Given the description of an element on the screen output the (x, y) to click on. 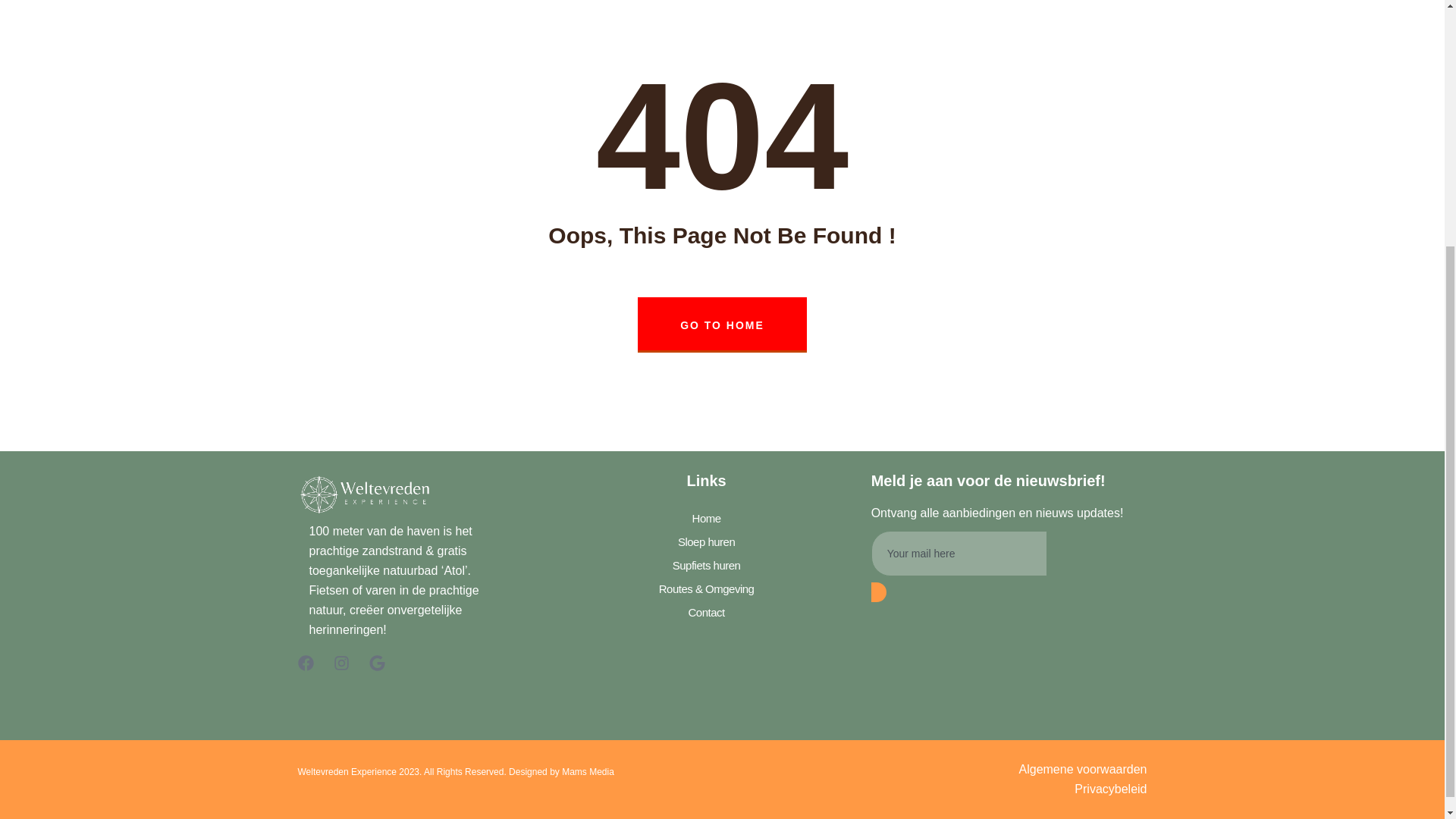
Sloep huren (706, 541)
Contact (706, 612)
Home (706, 517)
Supfiets huren (706, 565)
Privacybeleid (938, 789)
GO TO HOME (721, 324)
Algemene voorwaarden (938, 769)
